Given the description of an element on the screen output the (x, y) to click on. 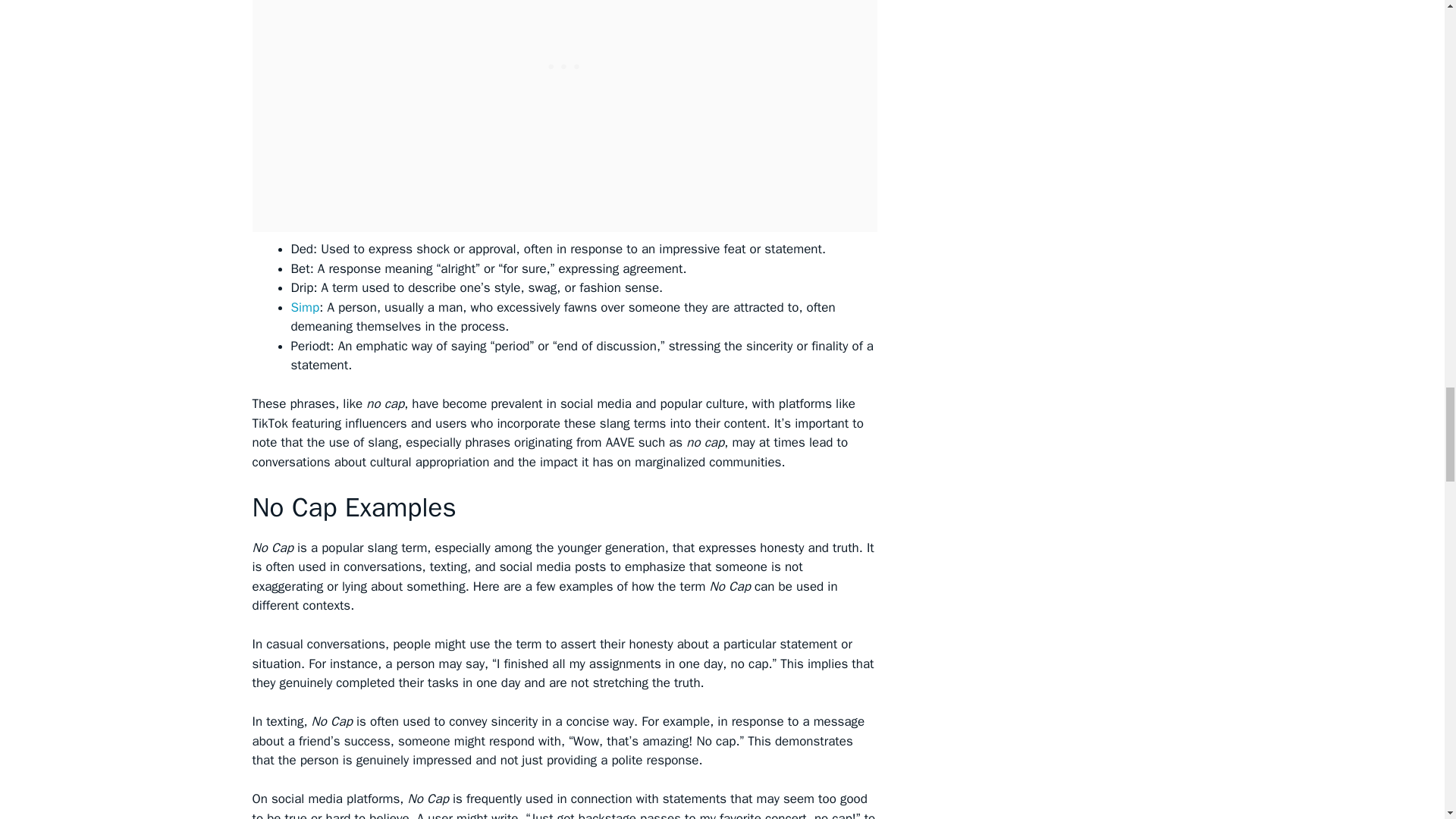
Simp (305, 307)
